Given the description of an element on the screen output the (x, y) to click on. 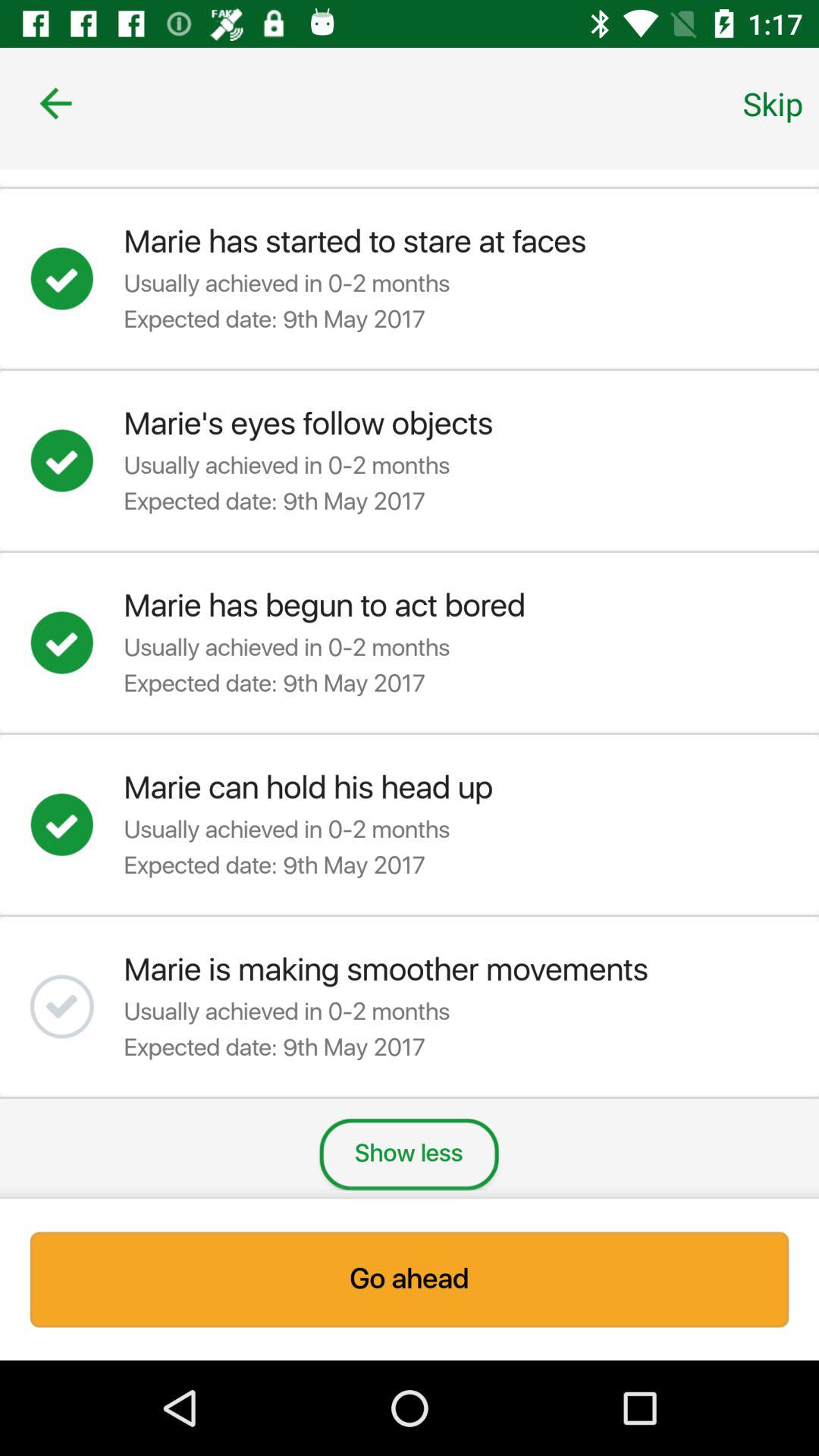
swipe to show less (408, 1154)
